Given the description of an element on the screen output the (x, y) to click on. 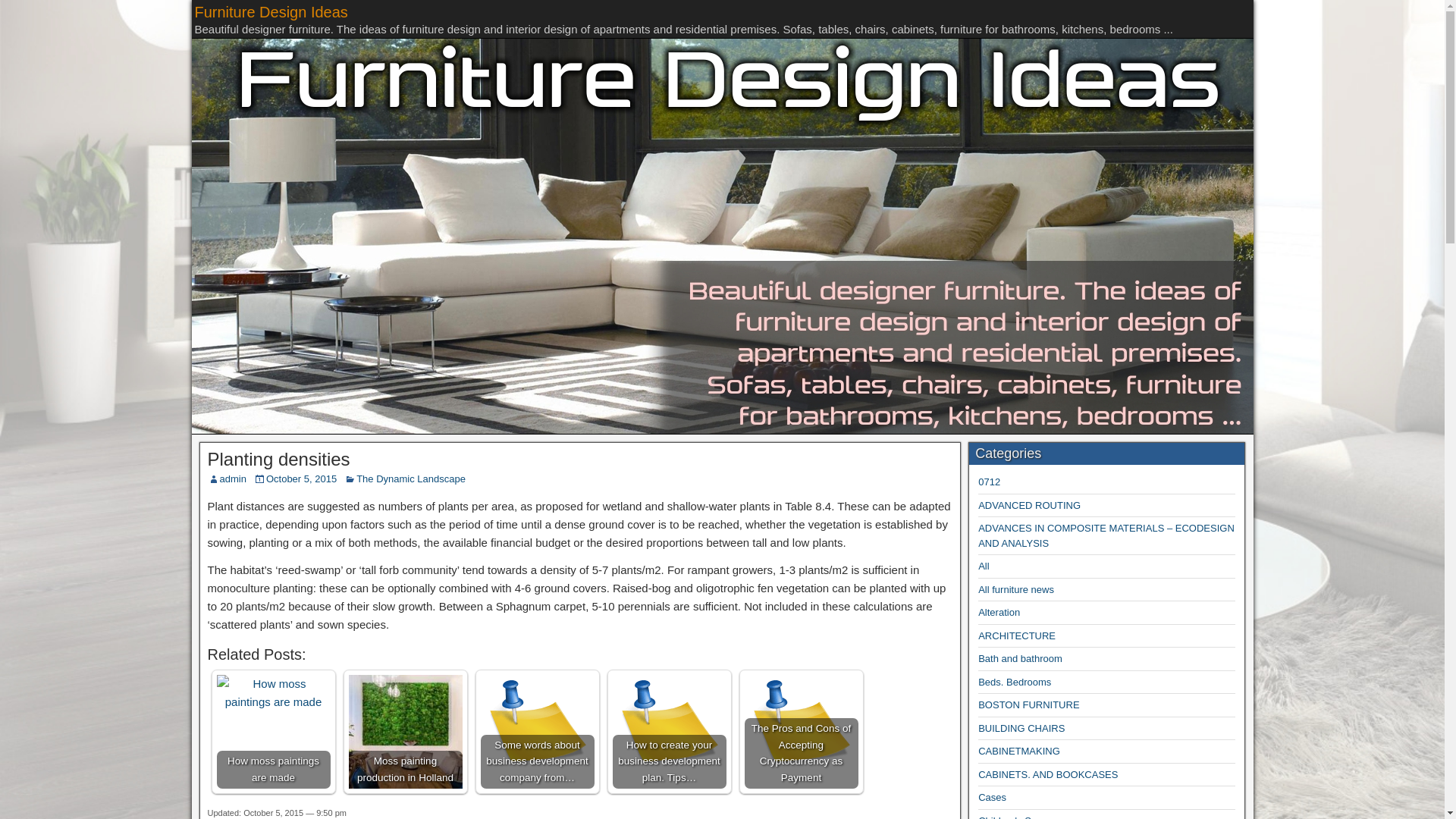
Moss painting production in Holland (406, 731)
Planting densities (279, 458)
Children's Spaces (1017, 816)
The Pros and Cons of Accepting Cryptocurrency as Payment (801, 731)
The Dynamic Landscape (410, 478)
The Pros and Cons of Accepting Cryptocurrency as Payment (801, 731)
BOSTON FURNITURE (1028, 704)
October 5, 2015 (301, 478)
Bath and bathroom (1020, 658)
0712 (989, 481)
